Given the description of an element on the screen output the (x, y) to click on. 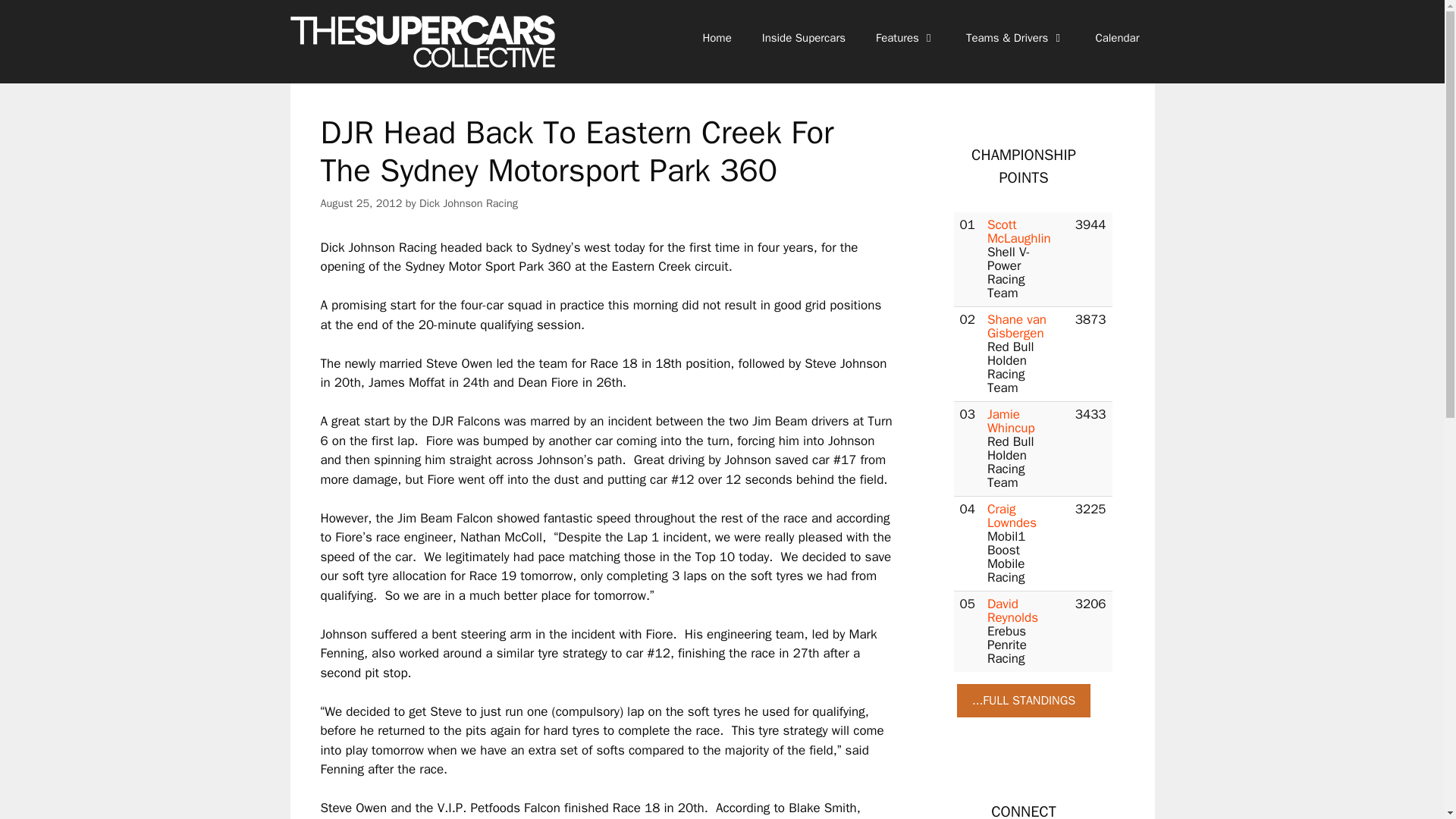
Inside Supercars (803, 37)
Features (905, 37)
View all posts by Dick Johnson Racing (468, 202)
Home (716, 37)
Calendar (1117, 37)
Dick Johnson Racing (468, 202)
